Given the description of an element on the screen output the (x, y) to click on. 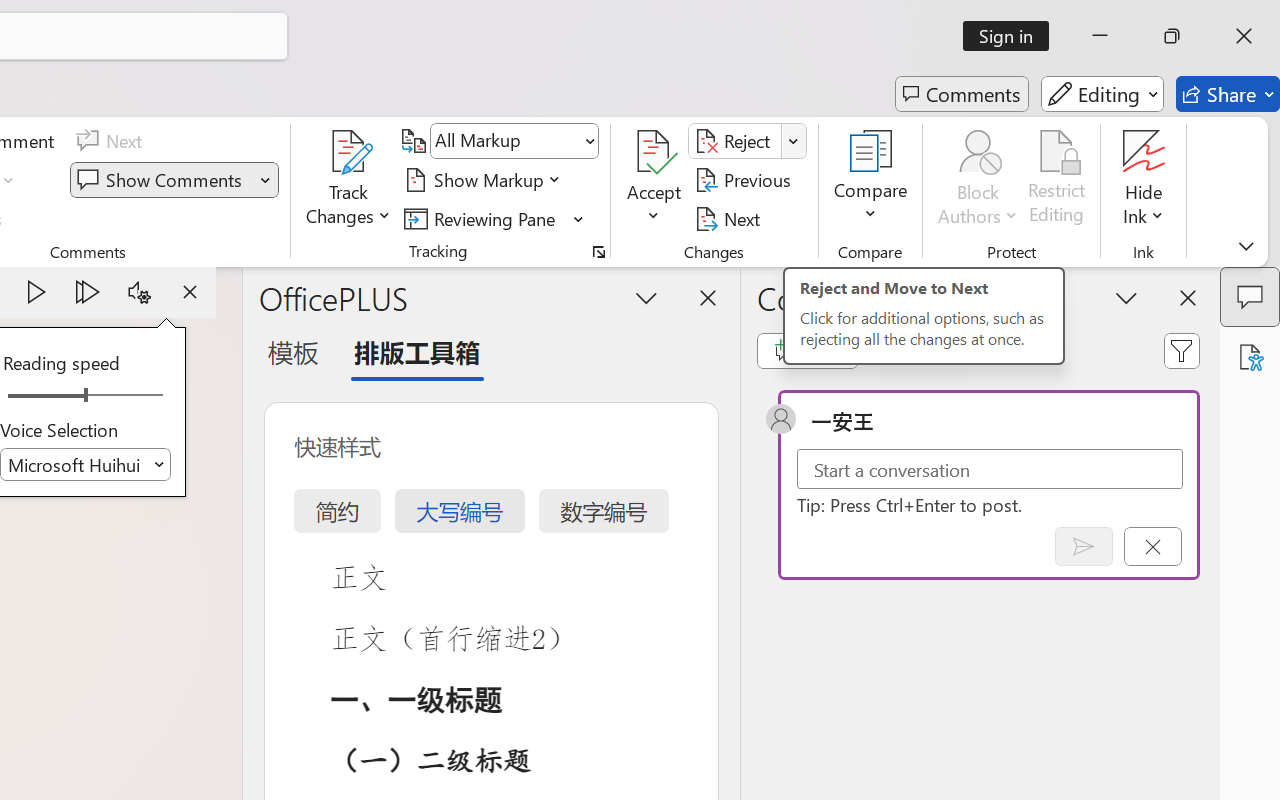
Reading speed (85, 396)
Block Authors (977, 179)
Page left (40, 395)
Accessibility Assistant (1249, 357)
Next Paragraph (87, 292)
Settings (139, 292)
Start a conversation (990, 468)
Accept (653, 179)
Compare (870, 179)
Track Changes (349, 151)
Track Changes (349, 179)
Show Comments (174, 179)
